Given the description of an element on the screen output the (x, y) to click on. 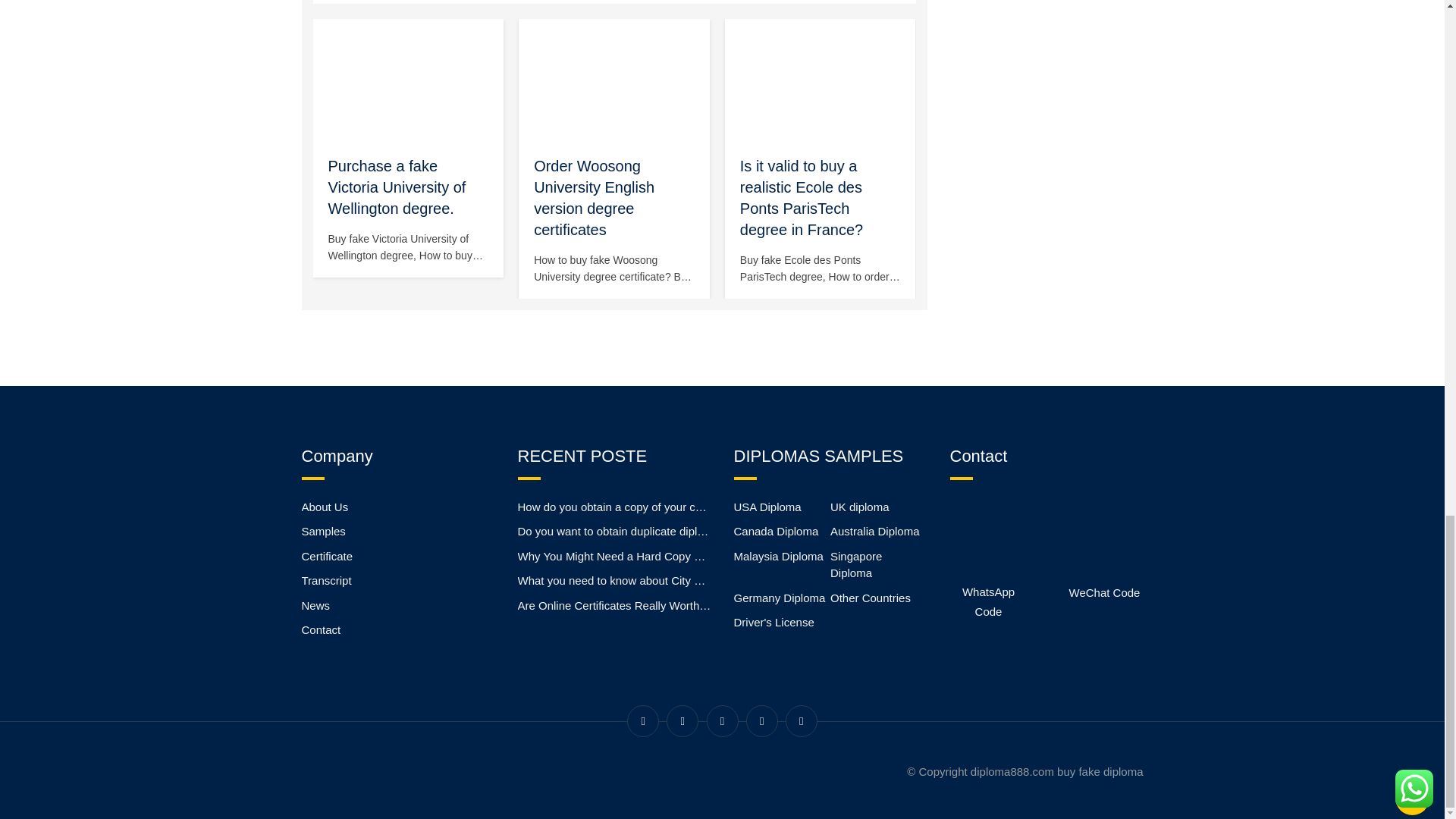
Purchase a fake Victoria University of Wellington degree. (396, 187)
Order Woosong University English version degree certificates (593, 198)
